Given the description of an element on the screen output the (x, y) to click on. 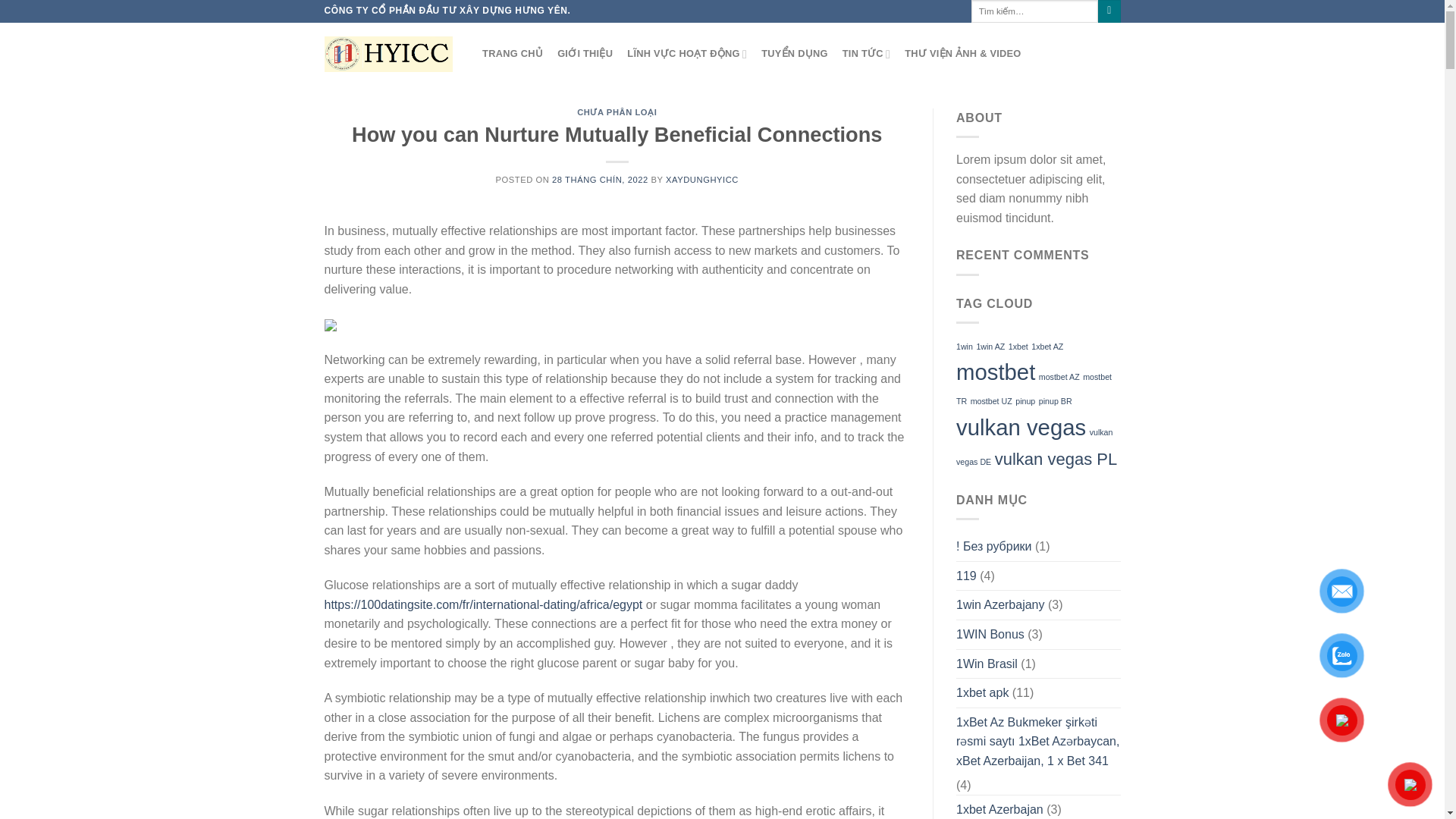
XAYDUNGHYICC (701, 179)
mostbet (995, 371)
1win AZ (989, 346)
1win (964, 346)
1xbet AZ (1046, 346)
1xbet (1018, 346)
